Given the description of an element on the screen output the (x, y) to click on. 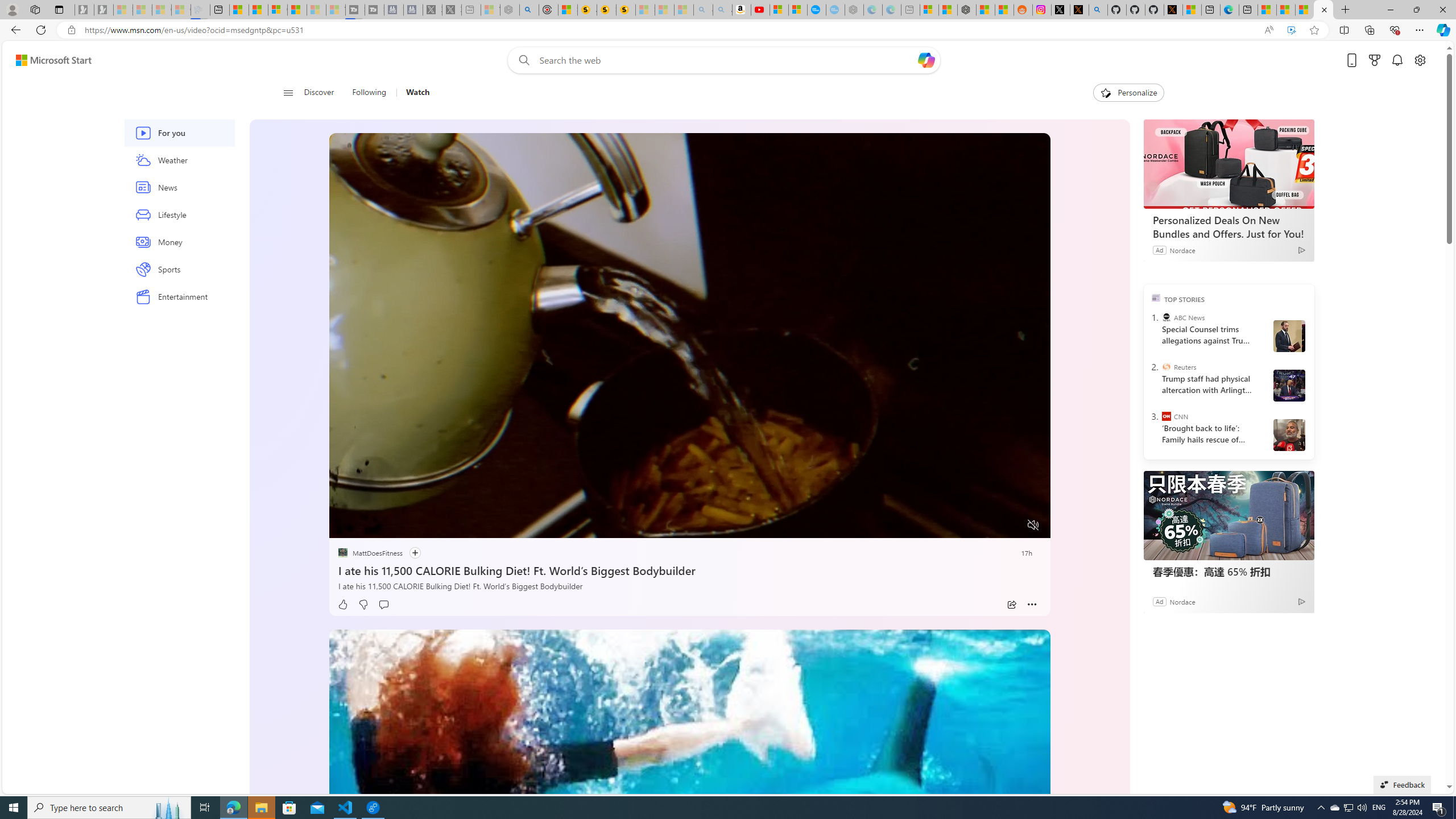
The most popular Google 'how to' searches - Sleeping (835, 9)
Unmute (1033, 524)
X Privacy Policy (1173, 9)
Welcome to Microsoft Edge (1229, 9)
Personalized Deals On New Bundles and Offers. Just for You! (1227, 226)
MSNBC - MSN (1285, 9)
